Given the description of an element on the screen output the (x, y) to click on. 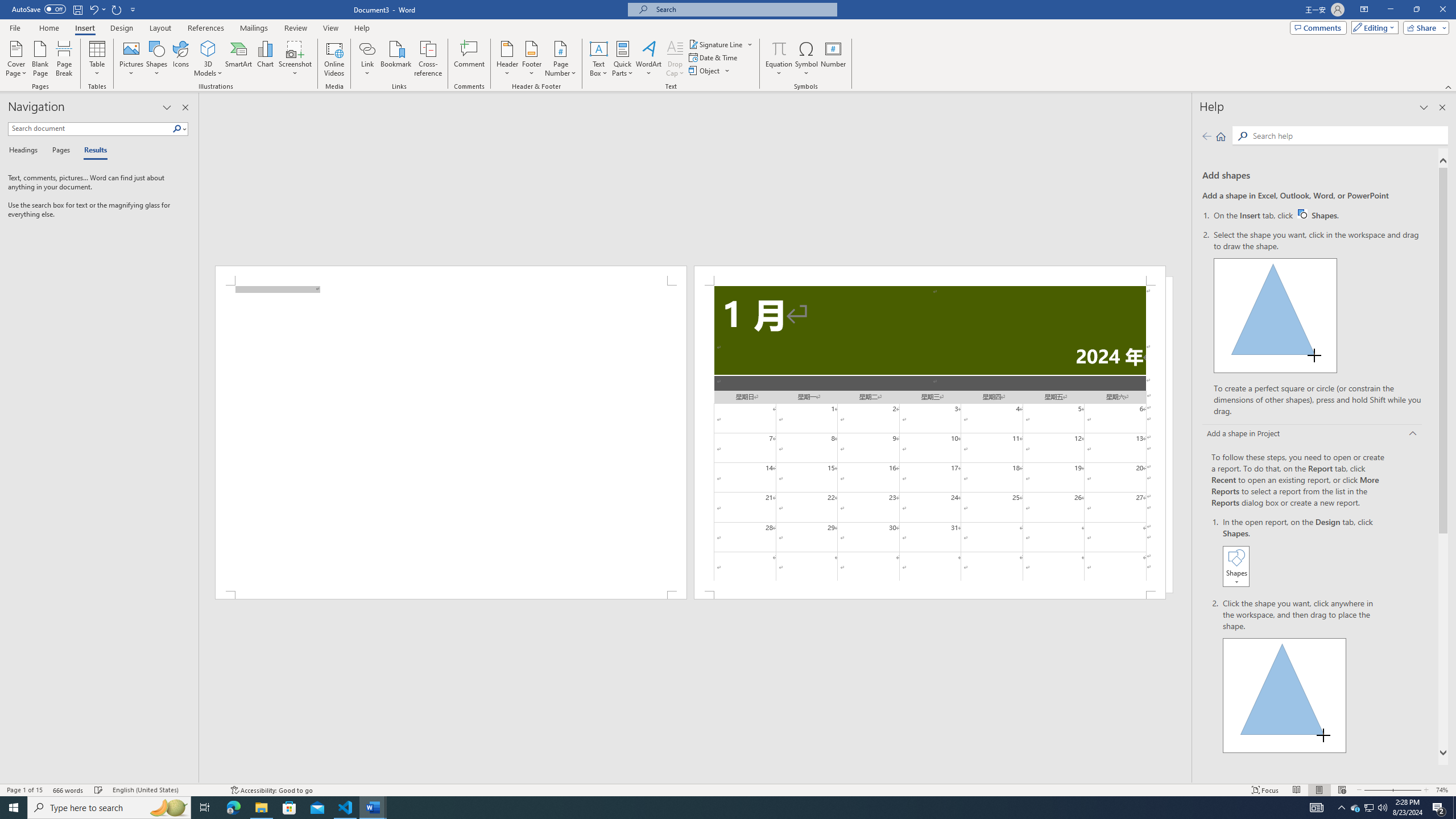
Page Number (560, 58)
Page 2 content (930, 438)
Object... (709, 69)
Page Number Page 1 of 15 (24, 790)
Pictures (131, 58)
Online Videos... (333, 58)
Date & Time... (714, 56)
Undo New Page (96, 9)
